Given the description of an element on the screen output the (x, y) to click on. 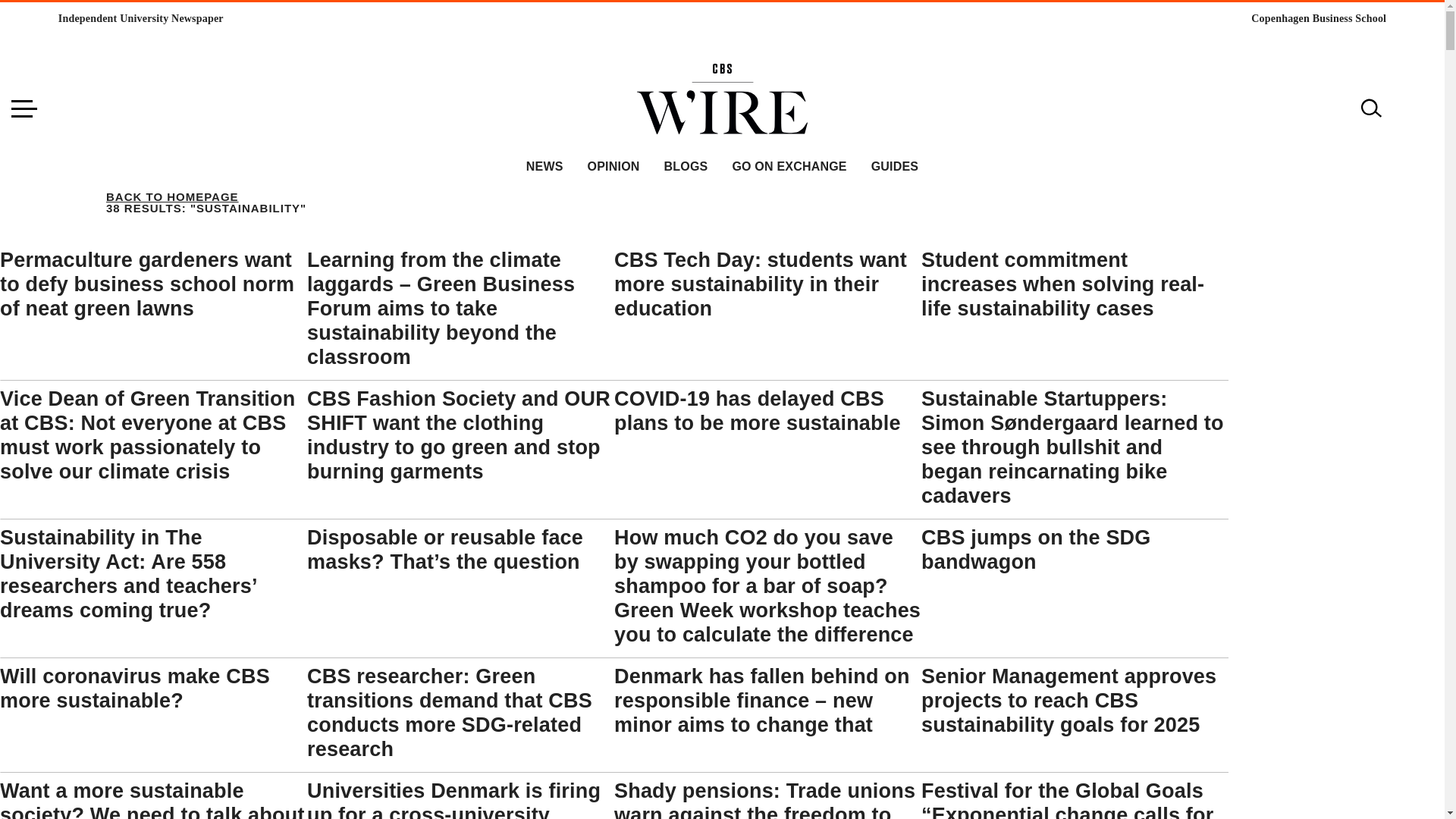
Pandemic (406, 431)
Will coronavirus make CBS more sustainable? (134, 688)
CBS Wire (722, 72)
COVID-19 has delayed CBS plans to be more sustainable (757, 410)
CBS jumps on the SDG bandwagon (1036, 549)
